Given the description of an element on the screen output the (x, y) to click on. 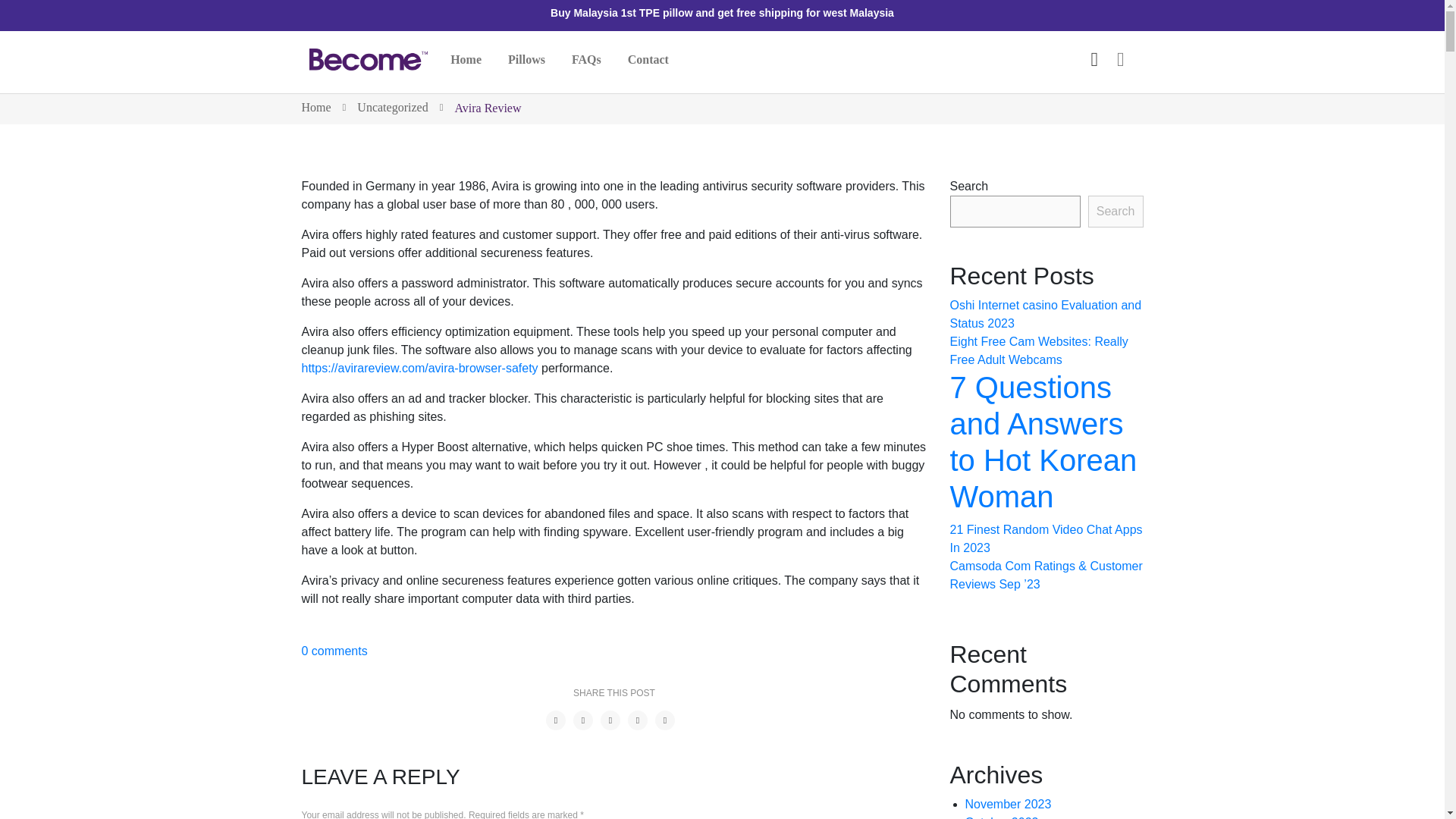
LinkedIn (665, 720)
Twitter (582, 720)
Pinterest (609, 720)
Facebook (556, 720)
